Given the description of an element on the screen output the (x, y) to click on. 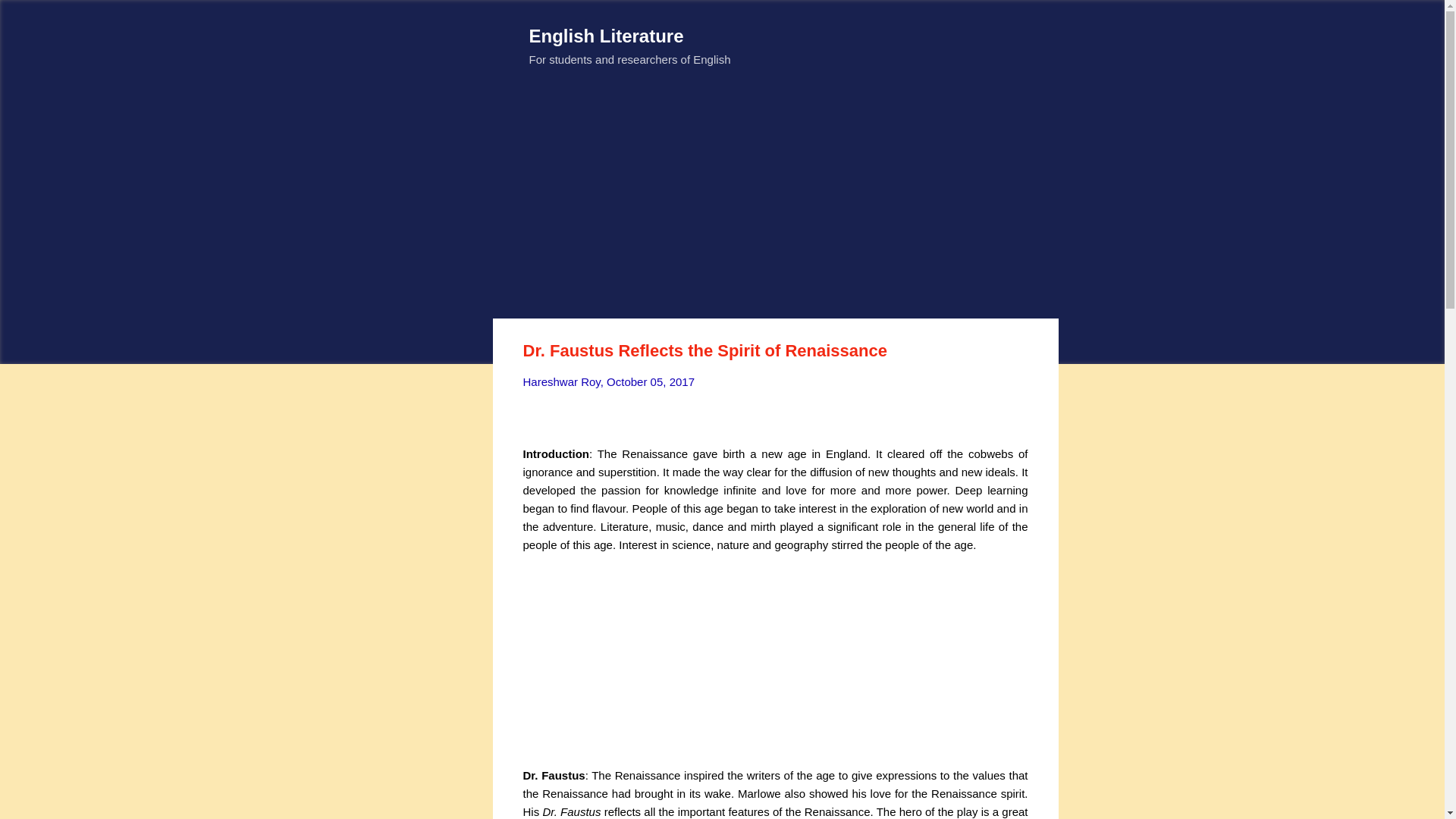
Advertisement (775, 200)
Advertisement (774, 659)
permanent link (650, 381)
October 05, 2017 (650, 381)
English Literature (606, 35)
Search (29, 18)
